Given the description of an element on the screen output the (x, y) to click on. 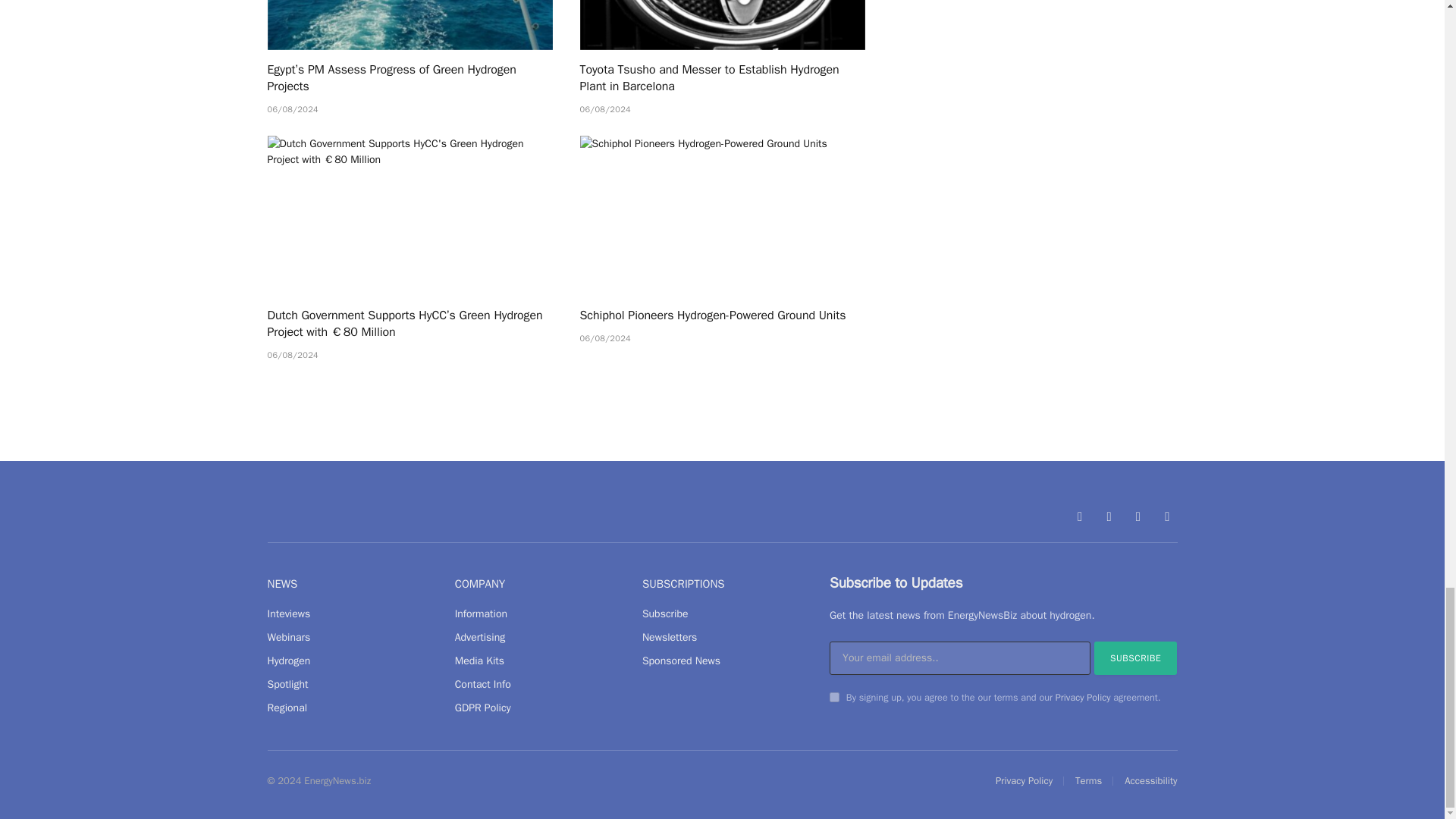
on (834, 696)
Subscribe (1135, 657)
